Given the description of an element on the screen output the (x, y) to click on. 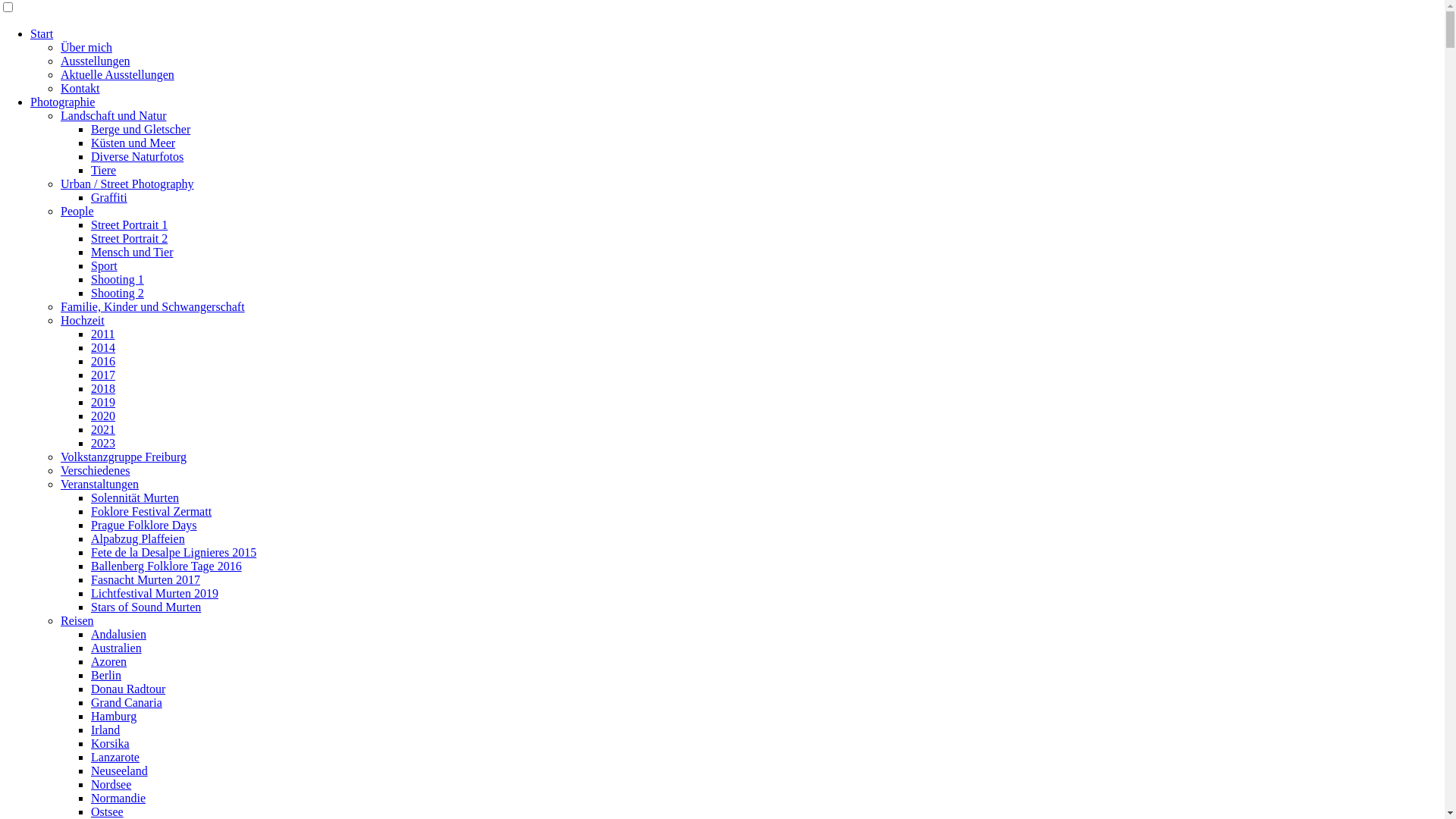
Australien Element type: text (116, 647)
Familie, Kinder und Schwangerschaft Element type: text (152, 306)
Ausstellungen Element type: text (95, 60)
Kontakt Element type: text (80, 87)
Nordsee Element type: text (111, 784)
Lichtfestival Murten 2019 Element type: text (154, 592)
Street Portrait 2 Element type: text (129, 238)
Berlin Element type: text (106, 674)
Prague Folklore Days Element type: text (144, 524)
2023 Element type: text (103, 442)
Azoren Element type: text (108, 661)
2016 Element type: text (103, 360)
2020 Element type: text (103, 415)
Fete de la Desalpe Lignieres 2015 Element type: text (173, 552)
Urban / Street Photography Element type: text (127, 183)
Volkstanzgruppe Freiburg Element type: text (123, 456)
2017 Element type: text (103, 374)
Verschiedenes Element type: text (95, 470)
Aktuelle Ausstellungen Element type: text (117, 74)
Diverse Naturfotos Element type: text (137, 156)
Photographie Element type: text (62, 101)
Stars of Sound Murten Element type: text (145, 606)
Fasnacht Murten 2017 Element type: text (145, 579)
Hamburg Element type: text (113, 715)
Andalusien Element type: text (118, 633)
Neuseeland Element type: text (119, 770)
People Element type: text (77, 210)
2014 Element type: text (103, 347)
2018 Element type: text (103, 388)
Donau Radtour Element type: text (128, 688)
Ostsee Element type: text (107, 811)
Mensch und Tier Element type: text (131, 251)
Tiere Element type: text (103, 169)
Grand Canaria Element type: text (126, 702)
Shooting 2 Element type: text (117, 292)
Berge und Gletscher Element type: text (140, 128)
Sport Element type: text (104, 265)
Foklore Festival Zermatt Element type: text (151, 511)
Veranstaltungen Element type: text (99, 483)
Reisen Element type: text (77, 620)
Lanzarote Element type: text (115, 756)
Irland Element type: text (105, 729)
Shooting 1 Element type: text (117, 279)
2019 Element type: text (103, 401)
Normandie Element type: text (118, 797)
Korsika Element type: text (110, 743)
2021 Element type: text (103, 429)
Street Portrait 1 Element type: text (129, 224)
Start Element type: text (41, 33)
Graffiti Element type: text (109, 197)
Hochzeit Element type: text (82, 319)
Ballenberg Folklore Tage 2016 Element type: text (166, 565)
Landschaft und Natur Element type: text (113, 115)
Alpabzug Plaffeien Element type: text (138, 538)
2011 Element type: text (102, 333)
